Given the description of an element on the screen output the (x, y) to click on. 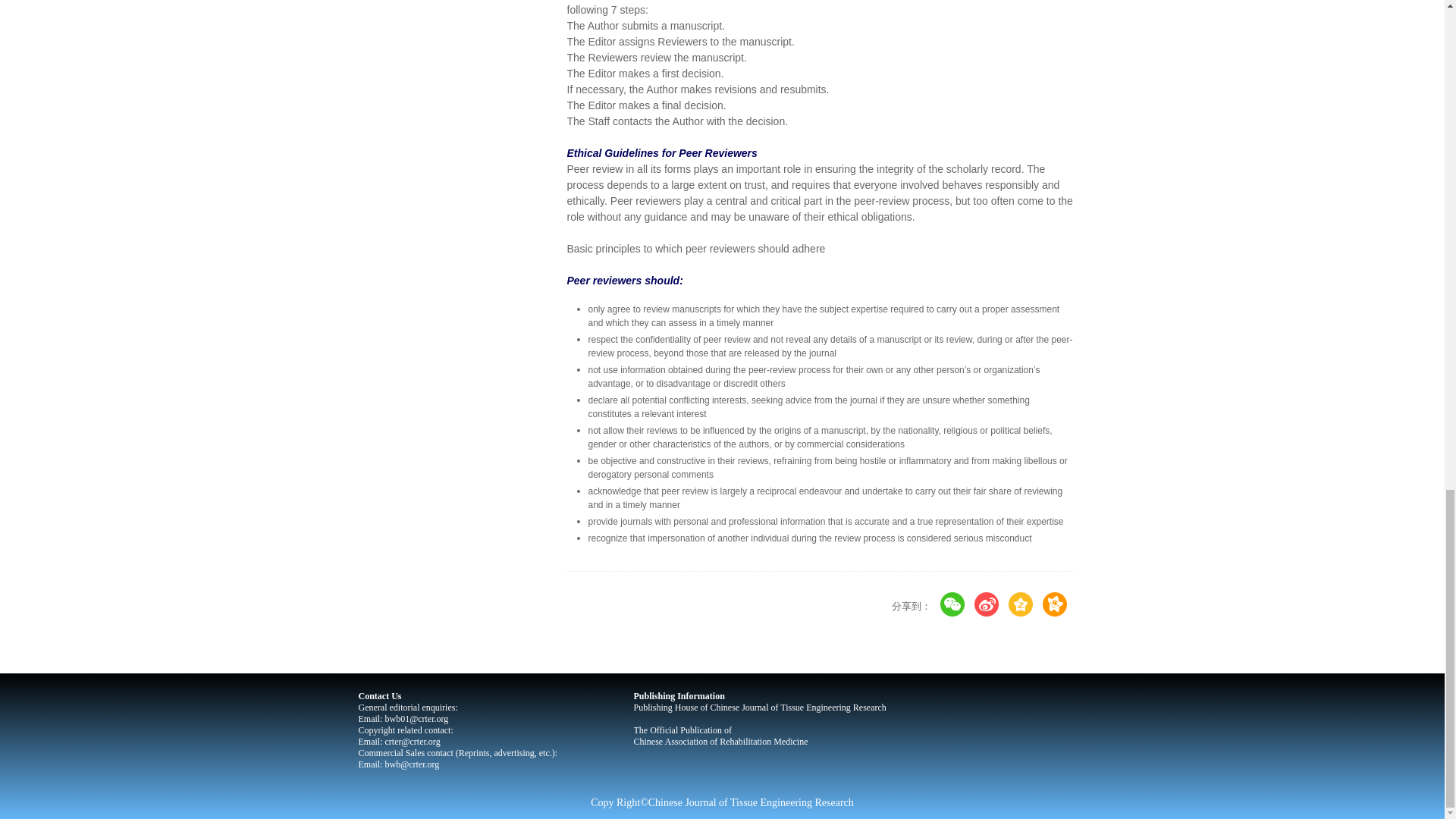
The Official Publication of (682, 729)
Chinese Association of Rehabilitation Medicine (720, 741)
